Given the description of an element on the screen output the (x, y) to click on. 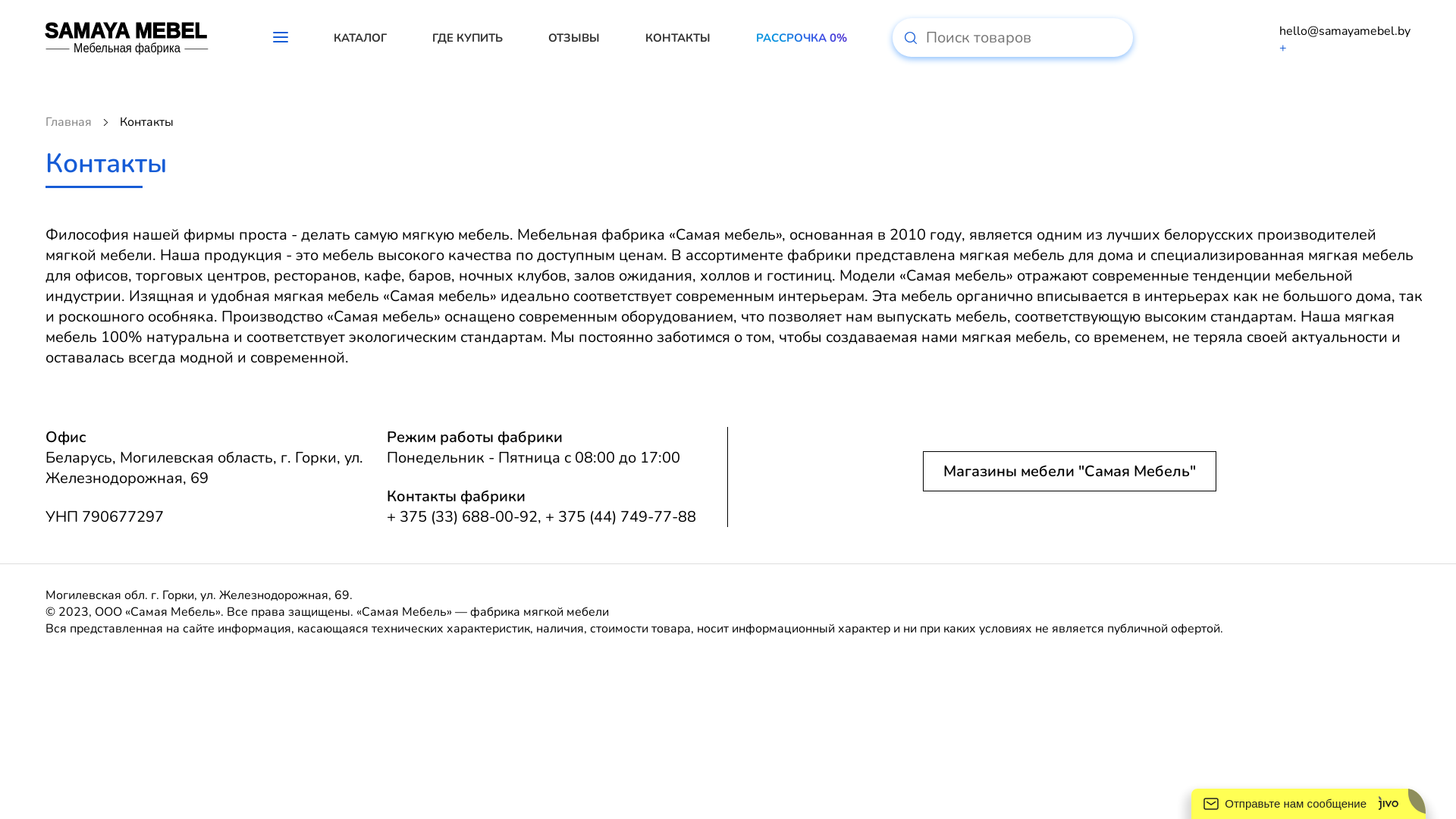
hello@samayamebel.by Element type: text (1344, 30)
+ Element type: text (359, 594)
